Given the description of an element on the screen output the (x, y) to click on. 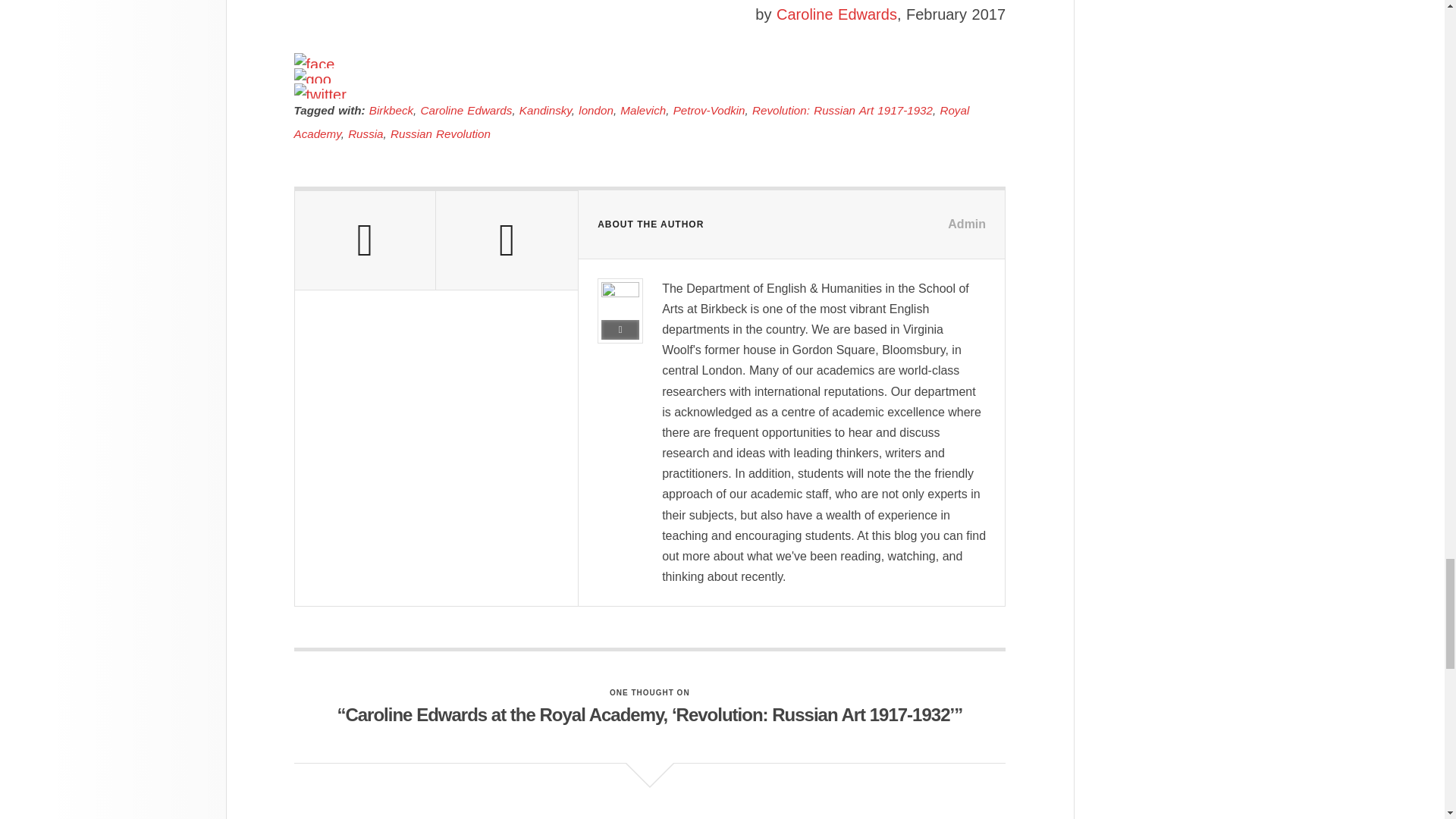
Birkbeck (391, 110)
Caroline Edwards (836, 13)
Next Post (506, 239)
Author's Link (620, 329)
Caroline Edwards (466, 110)
Previous Post (364, 239)
